Given the description of an element on the screen output the (x, y) to click on. 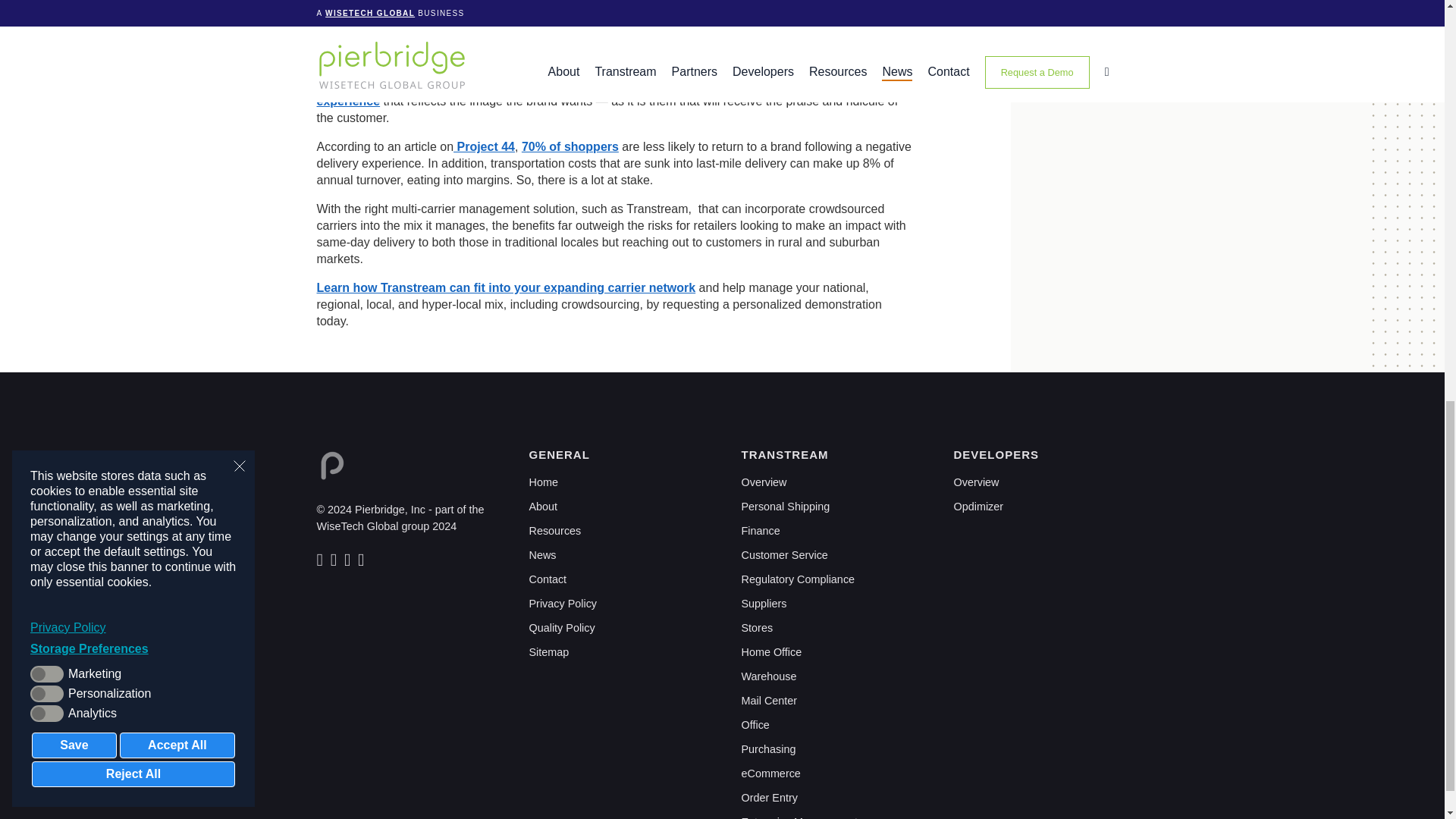
Contact (548, 579)
customer delivery experience (587, 92)
Quality Policy (562, 627)
YouTube (363, 562)
Privacy Policy (562, 603)
Transtream (764, 481)
About (543, 506)
News (542, 554)
Pierbridge (332, 465)
LinkedIn (322, 562)
About (543, 506)
